Given the description of an element on the screen output the (x, y) to click on. 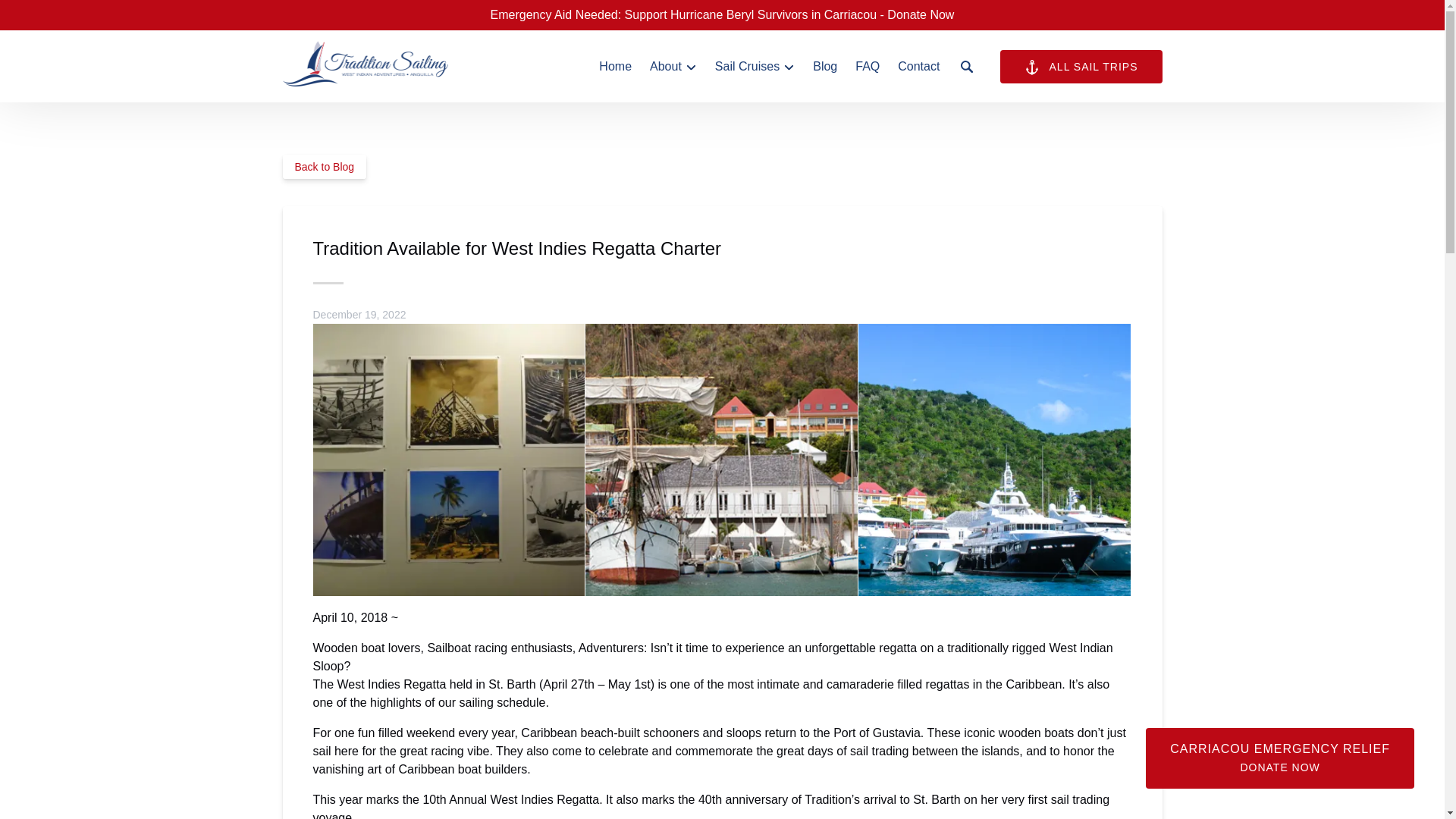
Contact (918, 66)
Skip to content (47, 16)
Home (614, 66)
About (673, 66)
FAQ (866, 66)
Open About Menu (676, 62)
Open Sail Cruises Menu (758, 62)
Skip to footer (42, 16)
Blog (824, 66)
Sail Cruises (754, 66)
Skip to primary navigation (77, 16)
ANCHOR ALL SAIL TRIPS (1080, 66)
ANCHOR (1032, 67)
Back to Blog (324, 166)
